Given the description of an element on the screen output the (x, y) to click on. 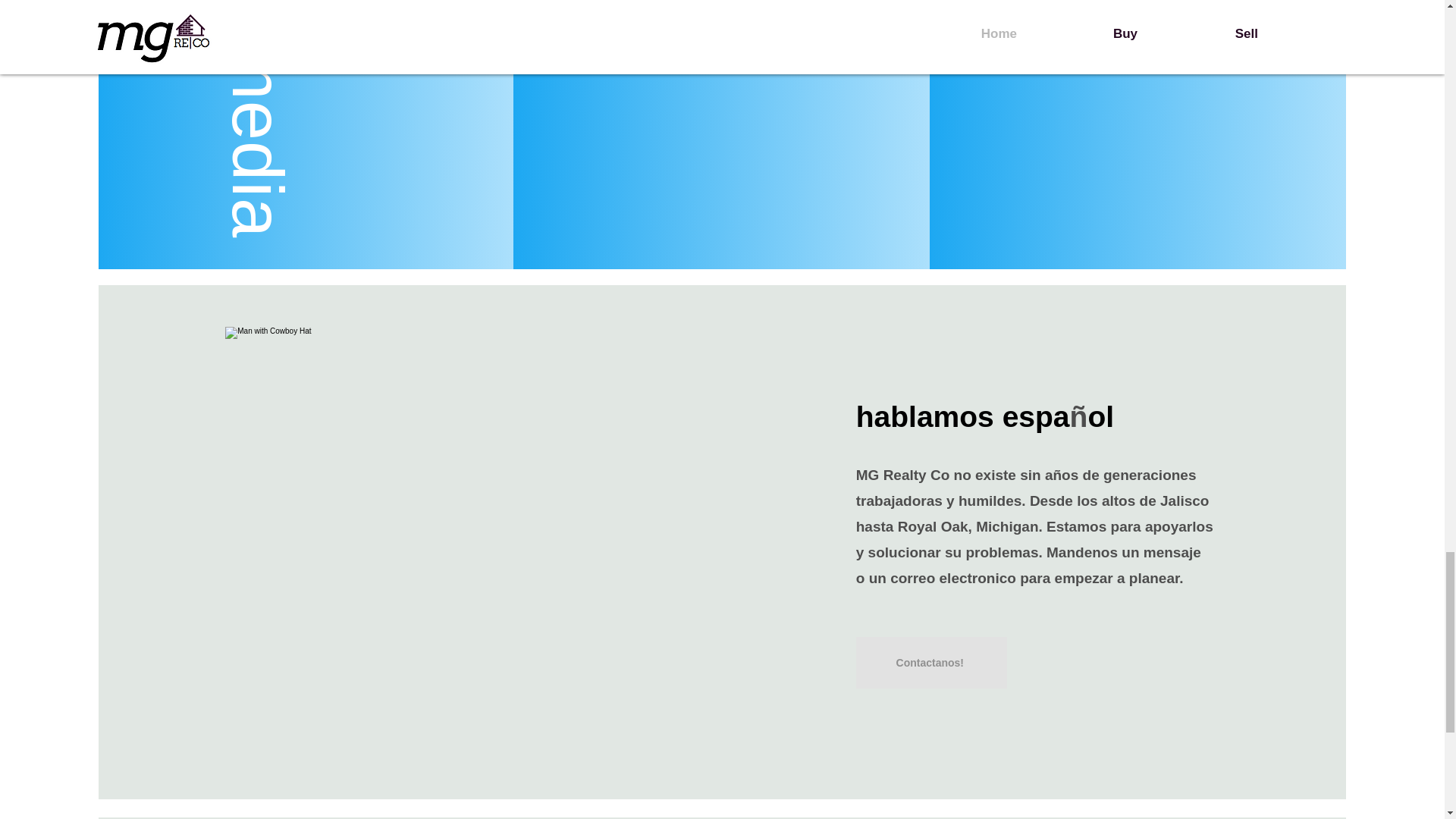
Contactanos! (931, 662)
